Given the description of an element on the screen output the (x, y) to click on. 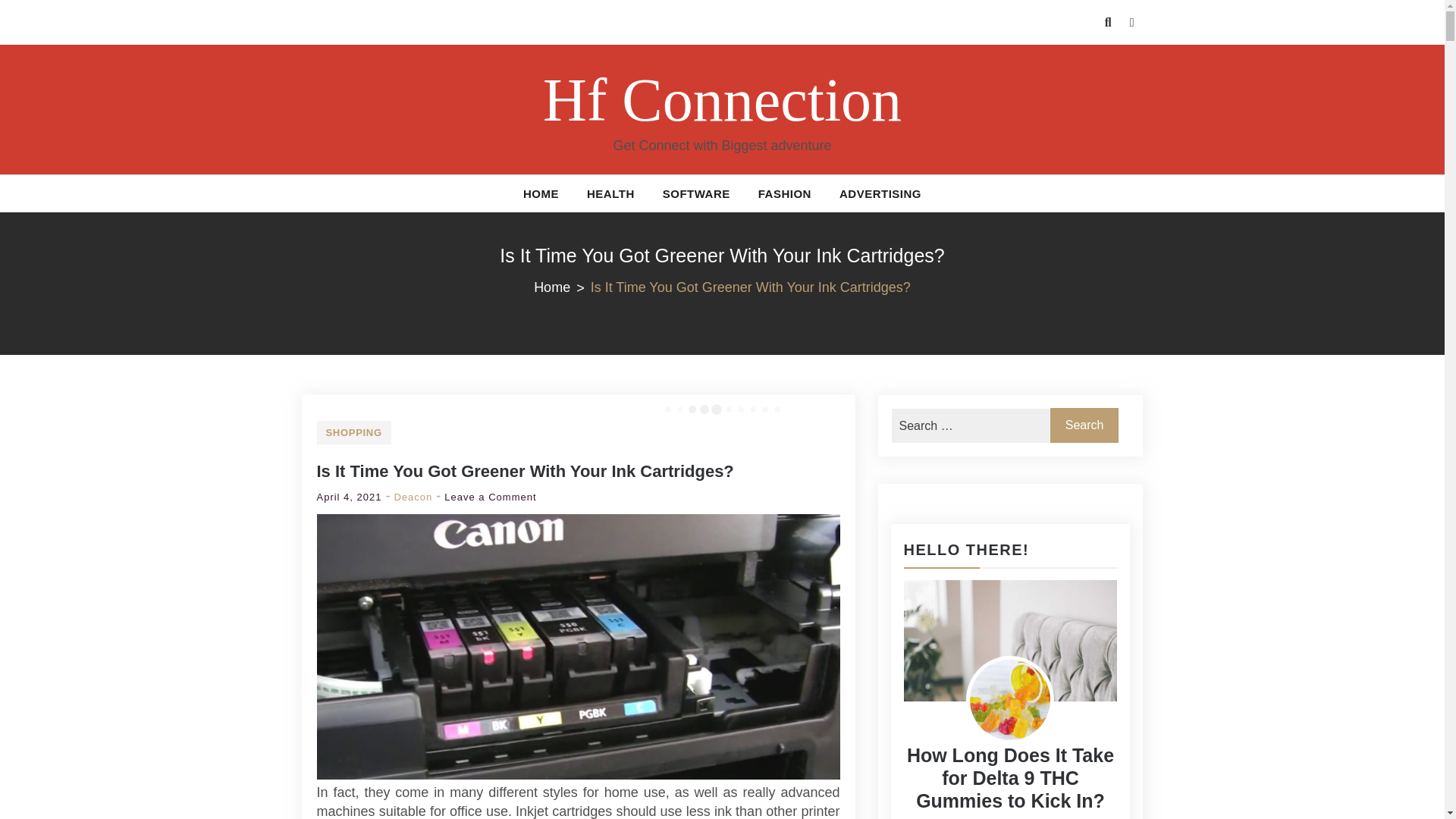
Is It Time You Got Greener With Your Ink Cartridges? (525, 470)
HEALTH (610, 193)
SOFTWARE (696, 193)
Search (1084, 425)
Deacon (413, 496)
Hf Connection (722, 99)
Home (562, 286)
Search (1084, 425)
FASHION (784, 193)
ADVERTISING (880, 193)
Search (1084, 425)
HOME (540, 193)
SHOPPING (354, 432)
April 4, 2021 (349, 496)
